Given the description of an element on the screen output the (x, y) to click on. 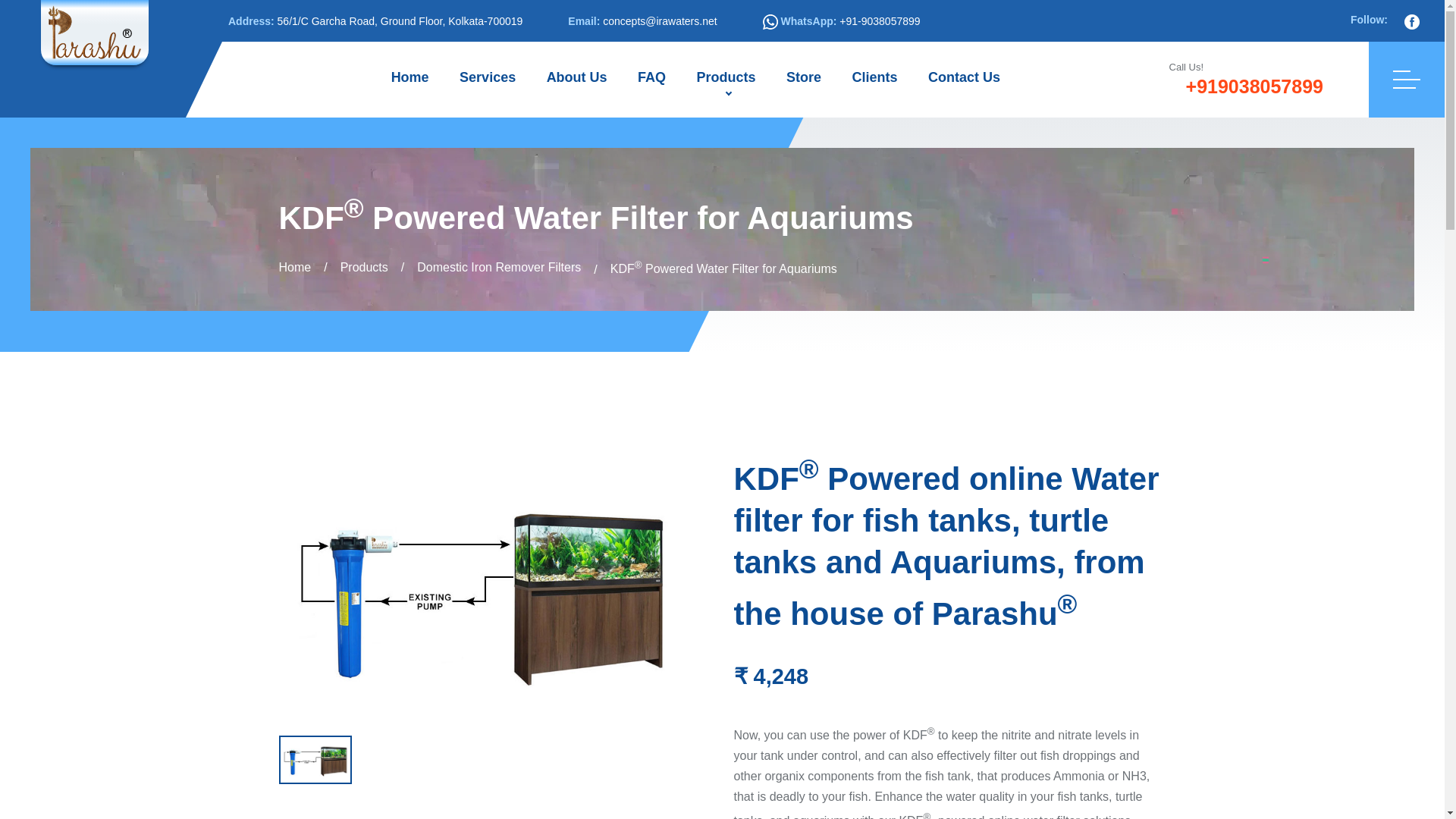
About Us (576, 79)
Store (803, 79)
Services (487, 79)
Products (364, 267)
Products (726, 79)
Home (409, 79)
FAQ (651, 79)
Home (295, 267)
Domestic Iron Remover Filters (498, 267)
Contact Us (963, 79)
Clients (874, 79)
